Given the description of an element on the screen output the (x, y) to click on. 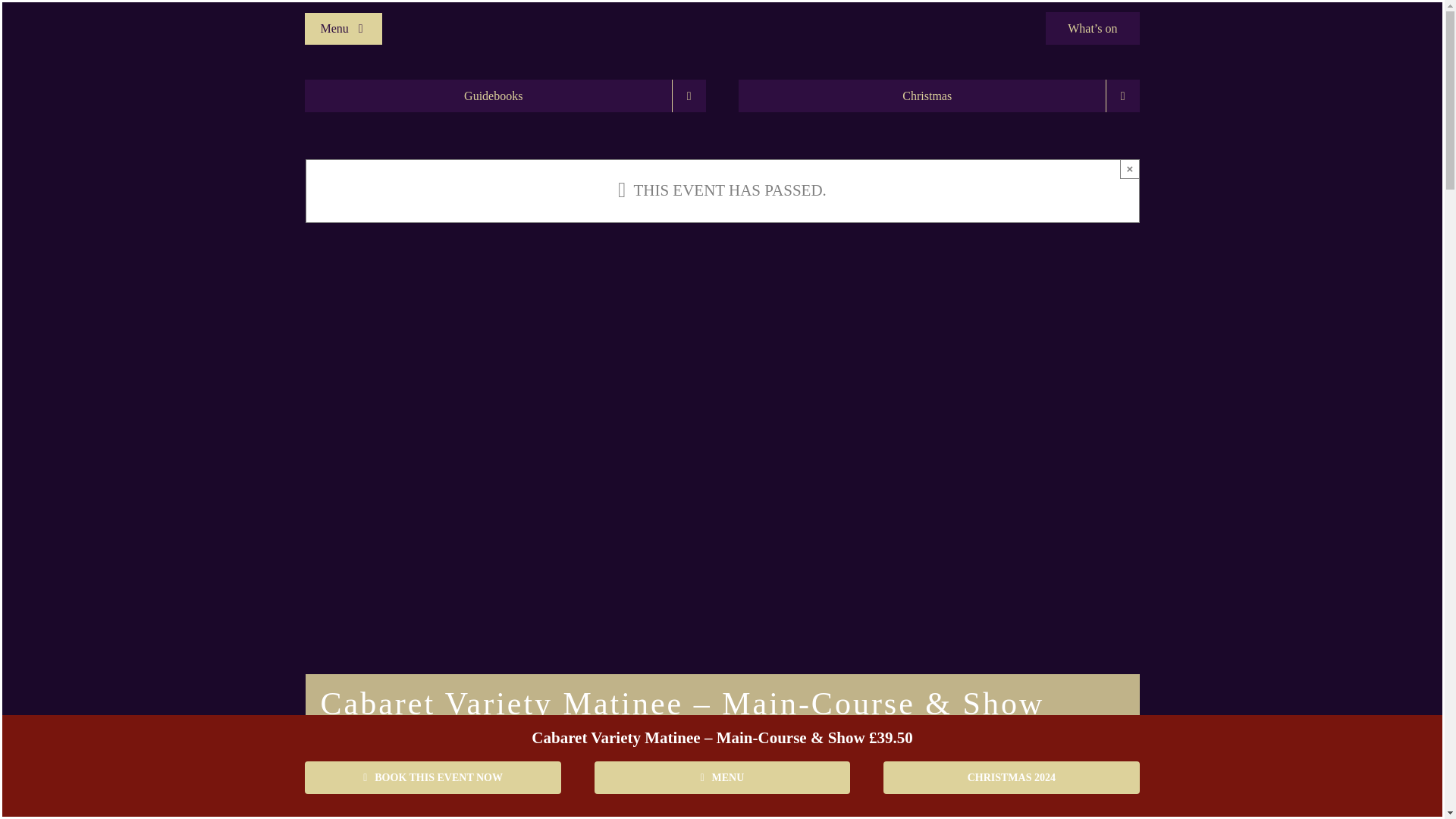
Menu (342, 28)
Christmas (938, 95)
Guidebooks (504, 95)
cabaretwhite (721, 8)
